Given the description of an element on the screen output the (x, y) to click on. 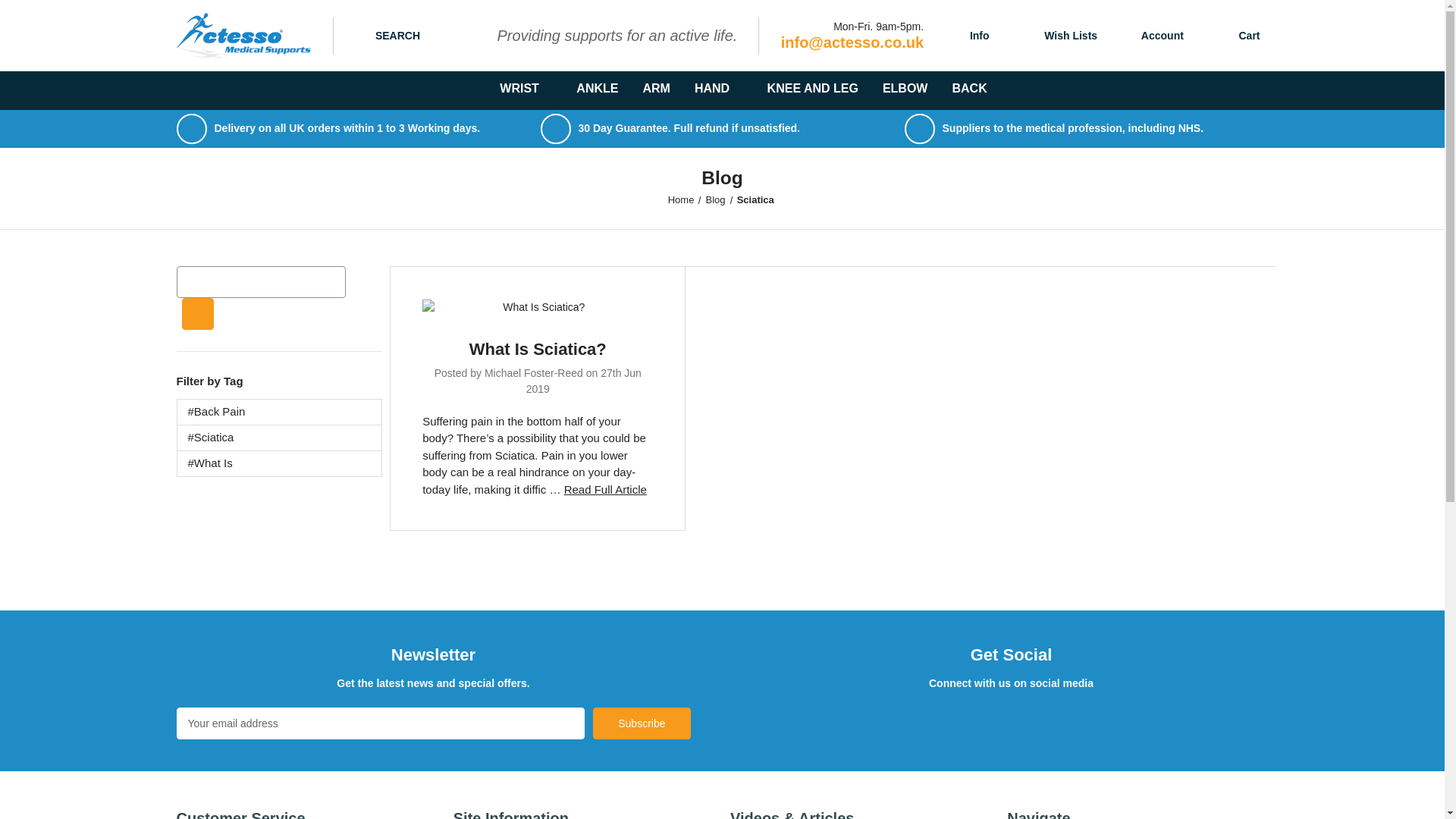
Facebook (958, 721)
What Is Sciatica? (537, 348)
What Is Sciatica? (605, 489)
WRIST (525, 90)
ELBOW (905, 90)
X (996, 721)
ARM (655, 90)
ANKLE (597, 90)
HAND (718, 90)
Instagram (1072, 721)
